Given the description of an element on the screen output the (x, y) to click on. 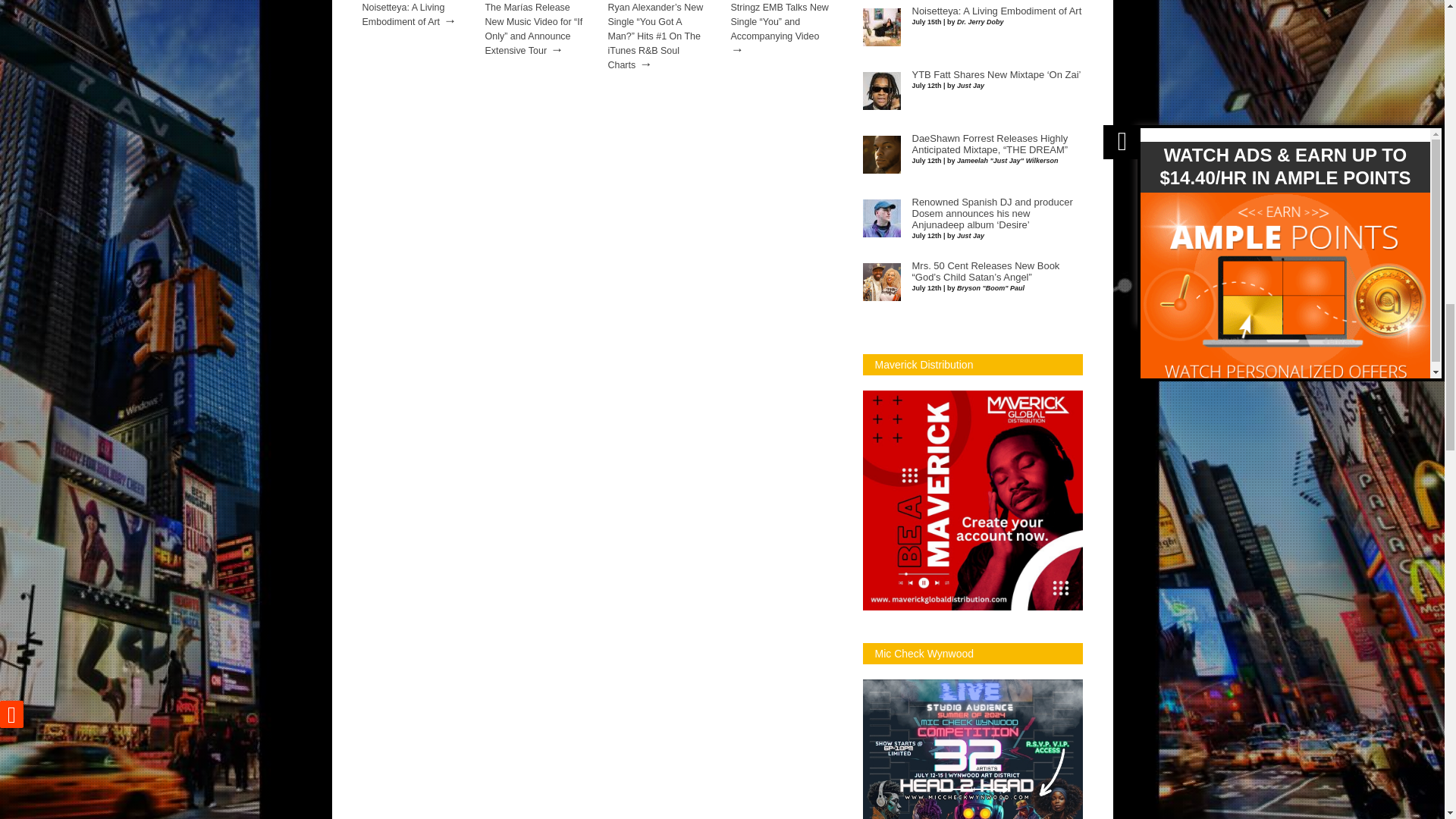
Noisetteya: A Living Embodiment of Art (403, 14)
